Given the description of an element on the screen output the (x, y) to click on. 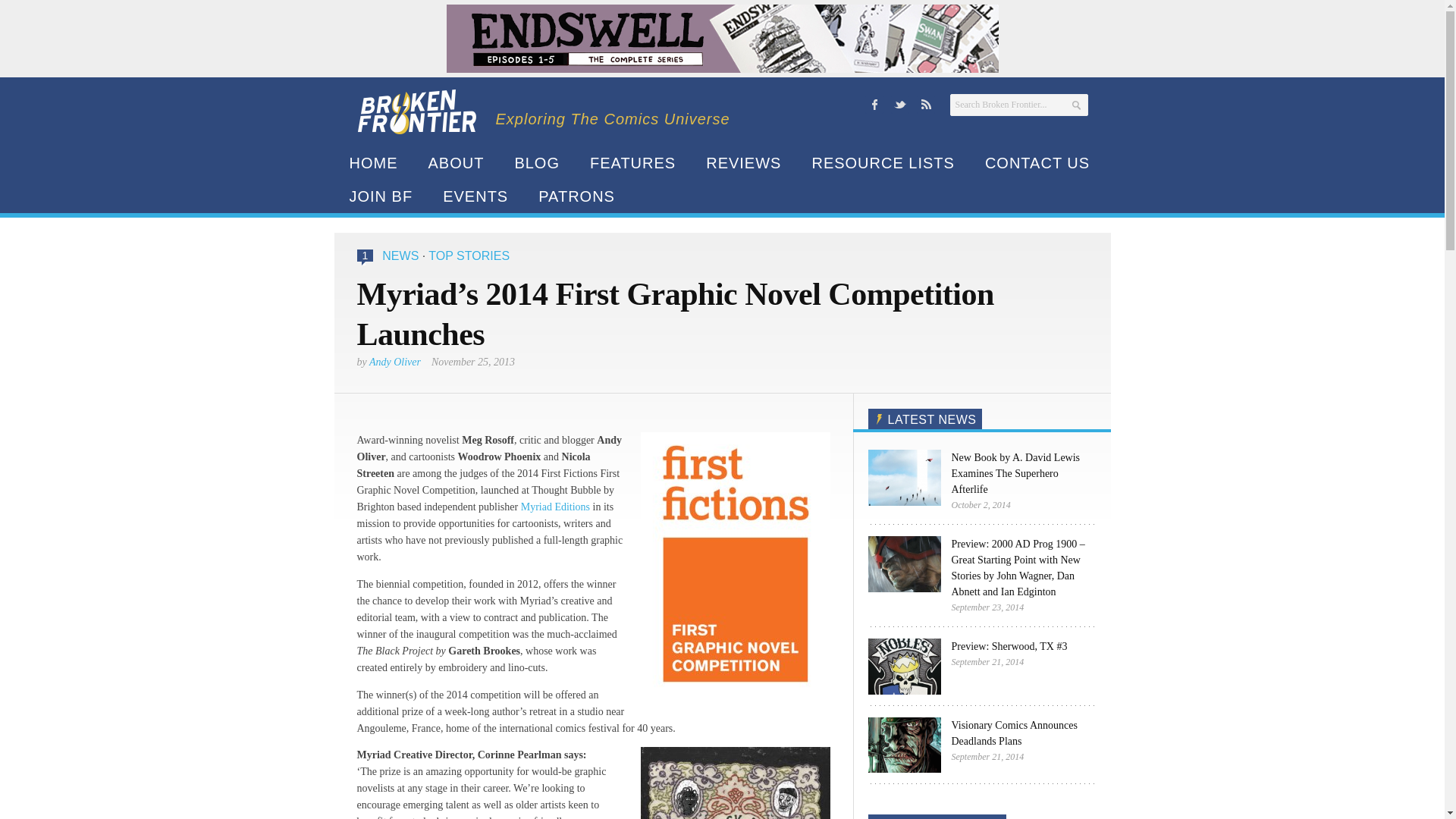
REVIEWS (743, 162)
TOP STORIES (468, 255)
1 (365, 255)
ABOUT (455, 162)
BLOG (537, 162)
EVENTS (475, 195)
CONTACT US (1037, 162)
RESOURCE LISTS (882, 162)
Myriad Editions (555, 506)
JOIN BF (380, 195)
Search Broken Frontier... (1018, 105)
Posts by Andy Oliver (394, 361)
PATRONS (576, 195)
Andy Oliver (394, 361)
HOME (372, 162)
